Given the description of an element on the screen output the (x, y) to click on. 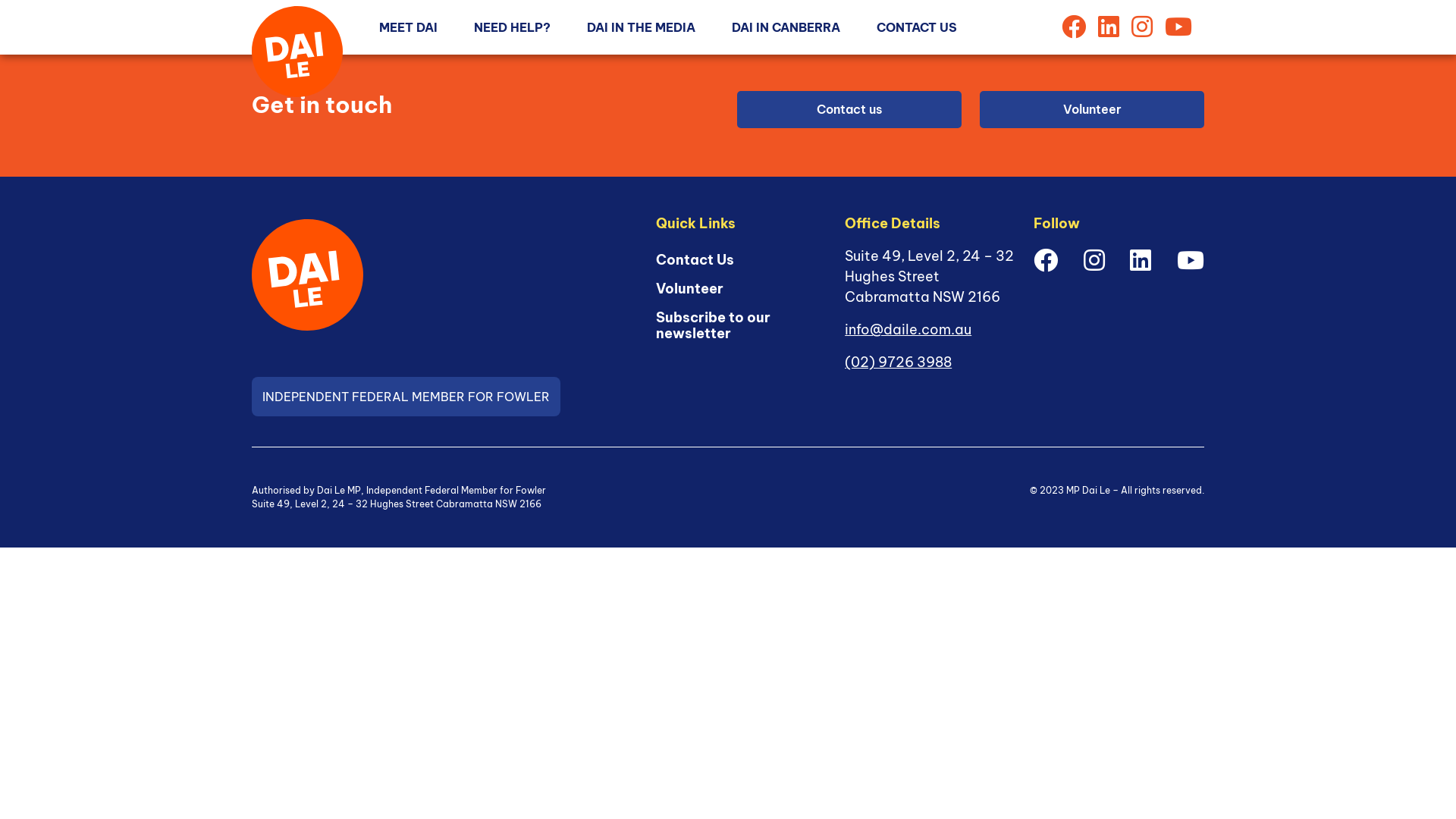
Dai Le LinkedIn Element type: hover (1140, 259)
DAI IN CANBERRA Element type: text (785, 26)
Dai Le Instagram Element type: hover (1093, 259)
Contact us Element type: text (849, 109)
Volunteer Element type: text (689, 288)
(02) 9726 3988 Element type: text (897, 361)
Dai Le Facebook Element type: hover (1045, 259)
Dai Le LinkedIn Element type: hover (1108, 26)
NEED HELP? Element type: text (511, 26)
Dai Le Element type: hover (296, 51)
Contact Us Element type: text (694, 259)
Dai Le Facebook Element type: hover (1073, 26)
Dai Le Element type: hover (307, 274)
Subscribe to our newsletter Element type: text (737, 325)
MEET DAI Element type: text (408, 26)
CONTACT US Element type: text (916, 26)
DAI IN THE MEDIA Element type: text (640, 26)
Dai Le Instagram Element type: hover (1141, 26)
Volunteer Element type: text (1091, 109)
Dai Le Youtube Element type: hover (1190, 259)
Dai Le Youtube Element type: hover (1178, 26)
info@daile.com.au Element type: text (907, 329)
